Given the description of an element on the screen output the (x, y) to click on. 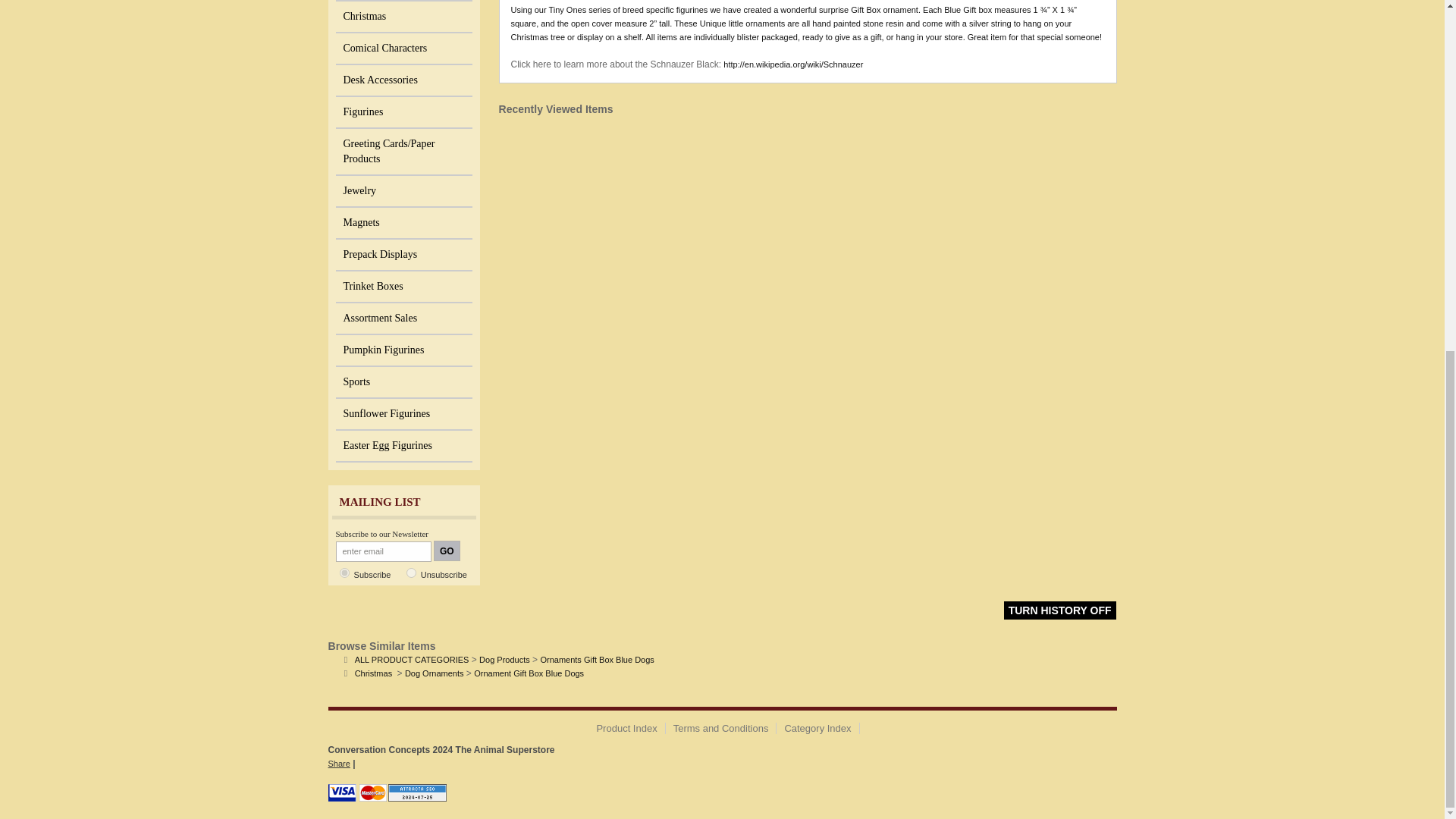
Figurines (402, 112)
Desk Accessories (402, 81)
GO (446, 550)
Trinket Boxes (402, 287)
enter email (382, 551)
Prepack Displays (402, 255)
1 (344, 573)
Christmas (402, 17)
Turn History Off (1060, 610)
Comical Characters (402, 49)
Jewelry (402, 192)
Magnets (402, 223)
Chess Sets (402, 0)
0 (411, 573)
